Given the description of an element on the screen output the (x, y) to click on. 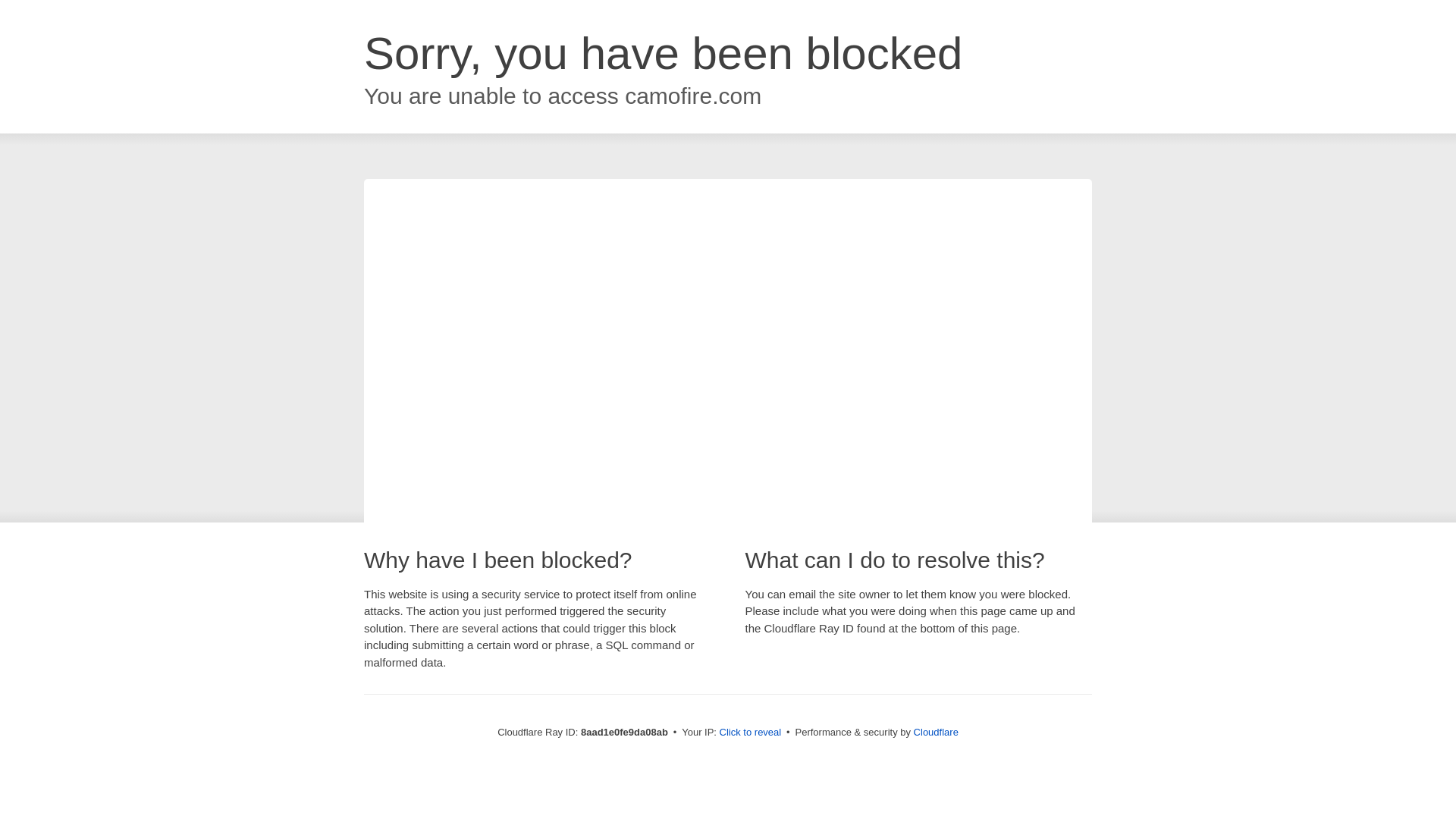
Cloudflare (936, 731)
Click to reveal (750, 732)
